Given the description of an element on the screen output the (x, y) to click on. 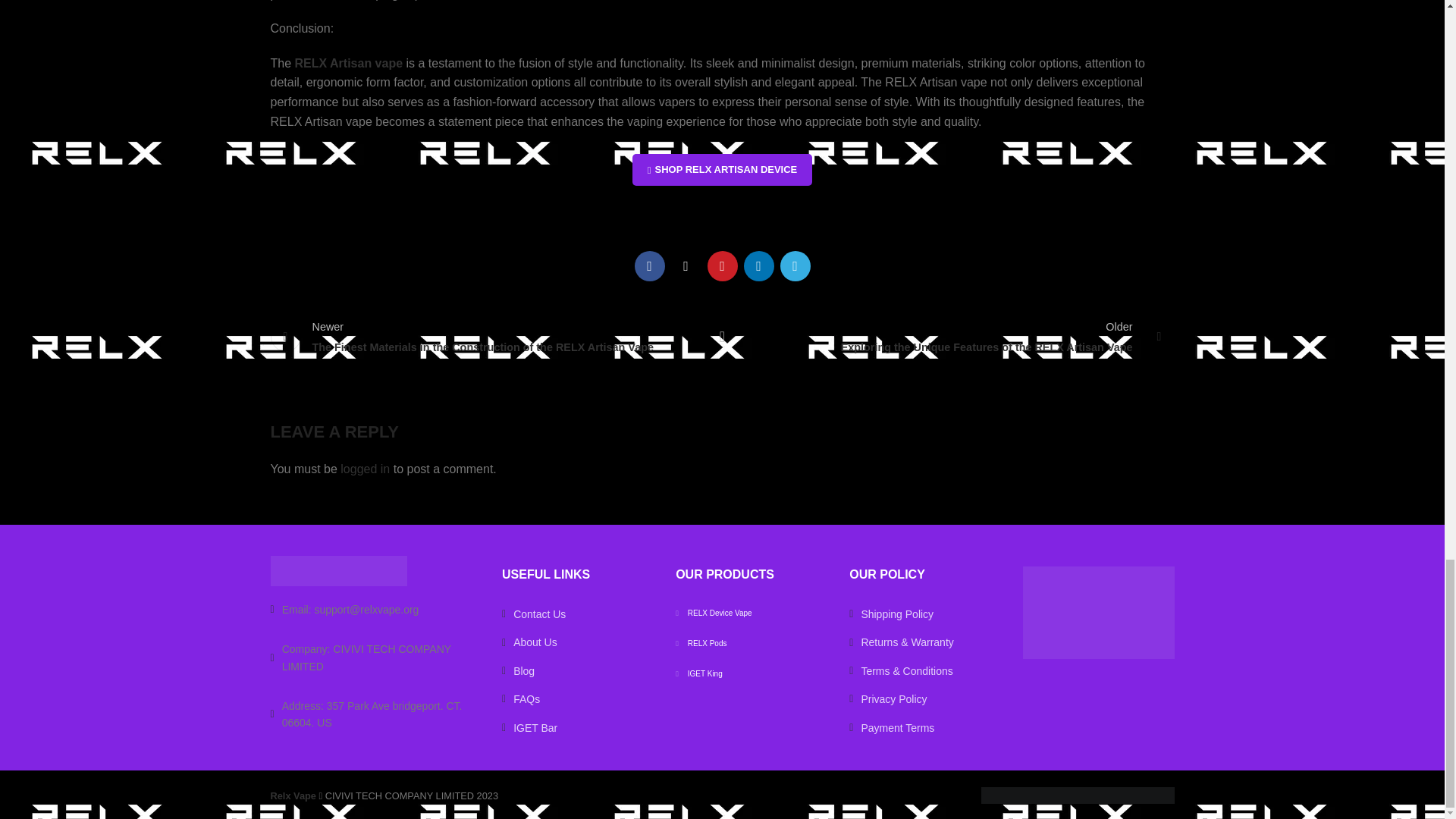
Contact Us (374, 609)
About Us (577, 641)
relx artisan device (721, 169)
Blogs (577, 670)
Contact Us (577, 614)
